Given the description of an element on the screen output the (x, y) to click on. 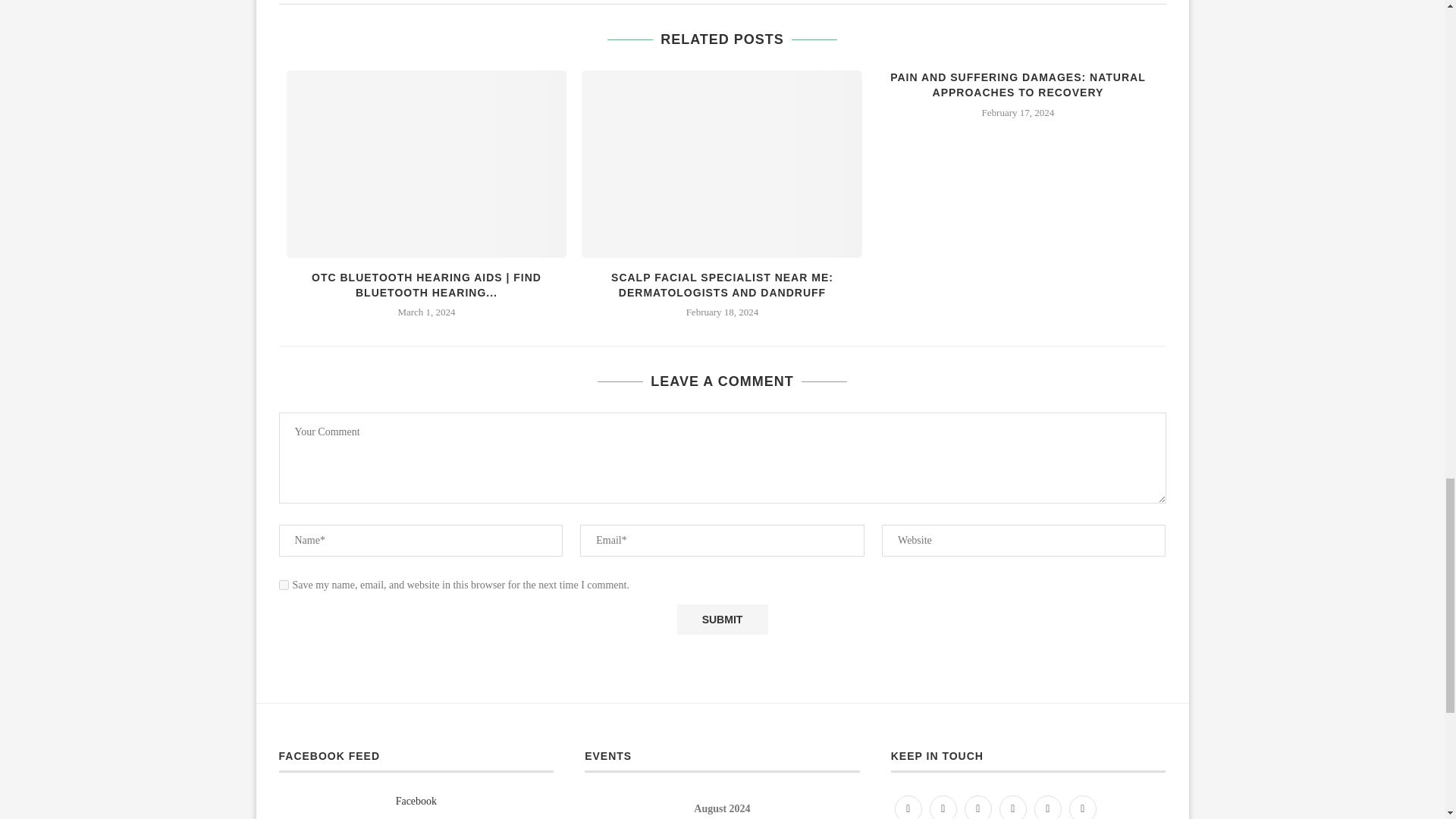
Submit (722, 619)
Scalp Facial Specialist Near Me: Dermatologists and Dandruff (720, 163)
yes (283, 584)
